Given the description of an element on the screen output the (x, y) to click on. 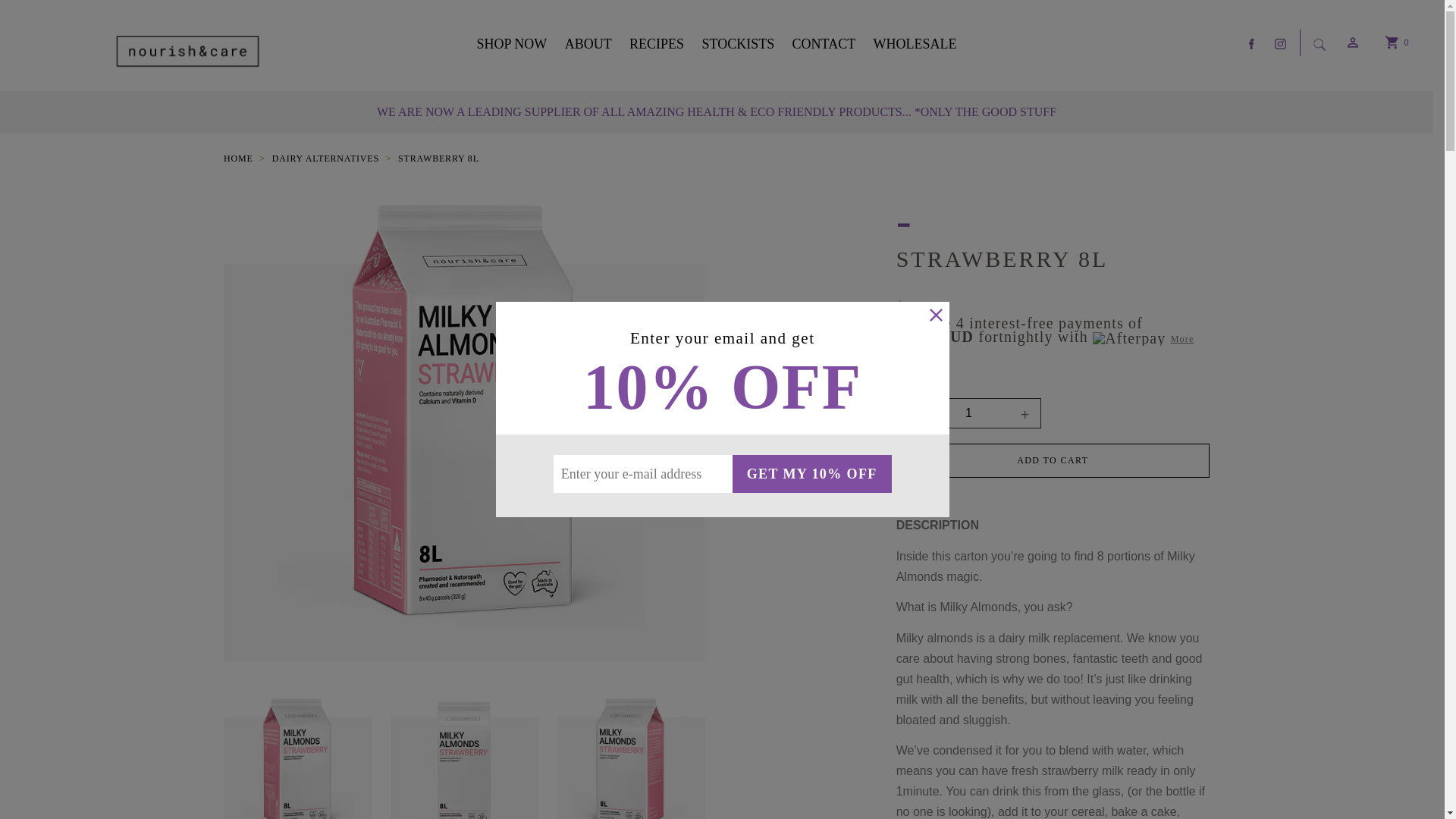
CONTACT Element type: text (826, 44)
DAIRY ALTERNATIVES Element type: text (325, 158)
SHOP NOW Element type: text (517, 44)
0 Element type: text (1391, 45)
ABOUT Element type: text (591, 44)
STOCKISTS Element type: text (741, 44)
HOME Element type: text (238, 158)
RECIPES Element type: text (660, 44)
WHOLESALE Element type: text (911, 44)
GET MY 10% OFF Element type: text (811, 473)
ADD TO CART Element type: text (1052, 460)
More info Element type: text (1045, 343)
